Given the description of an element on the screen output the (x, y) to click on. 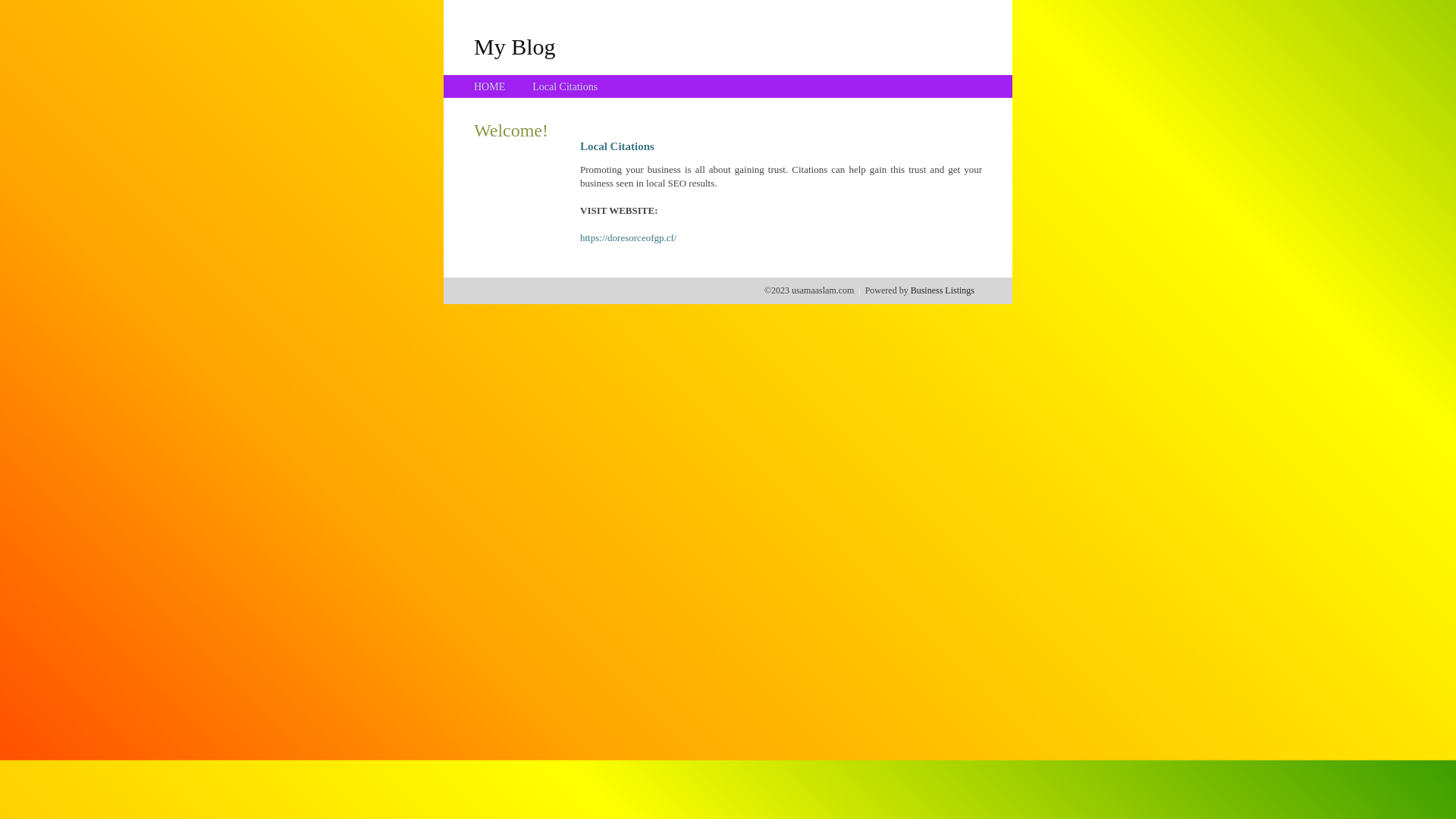
Business Listings Element type: text (942, 290)
My Blog Element type: text (514, 46)
https://doresorceofgp.cf/ Element type: text (628, 237)
Local Citations Element type: text (564, 86)
HOME Element type: text (489, 86)
